Given the description of an element on the screen output the (x, y) to click on. 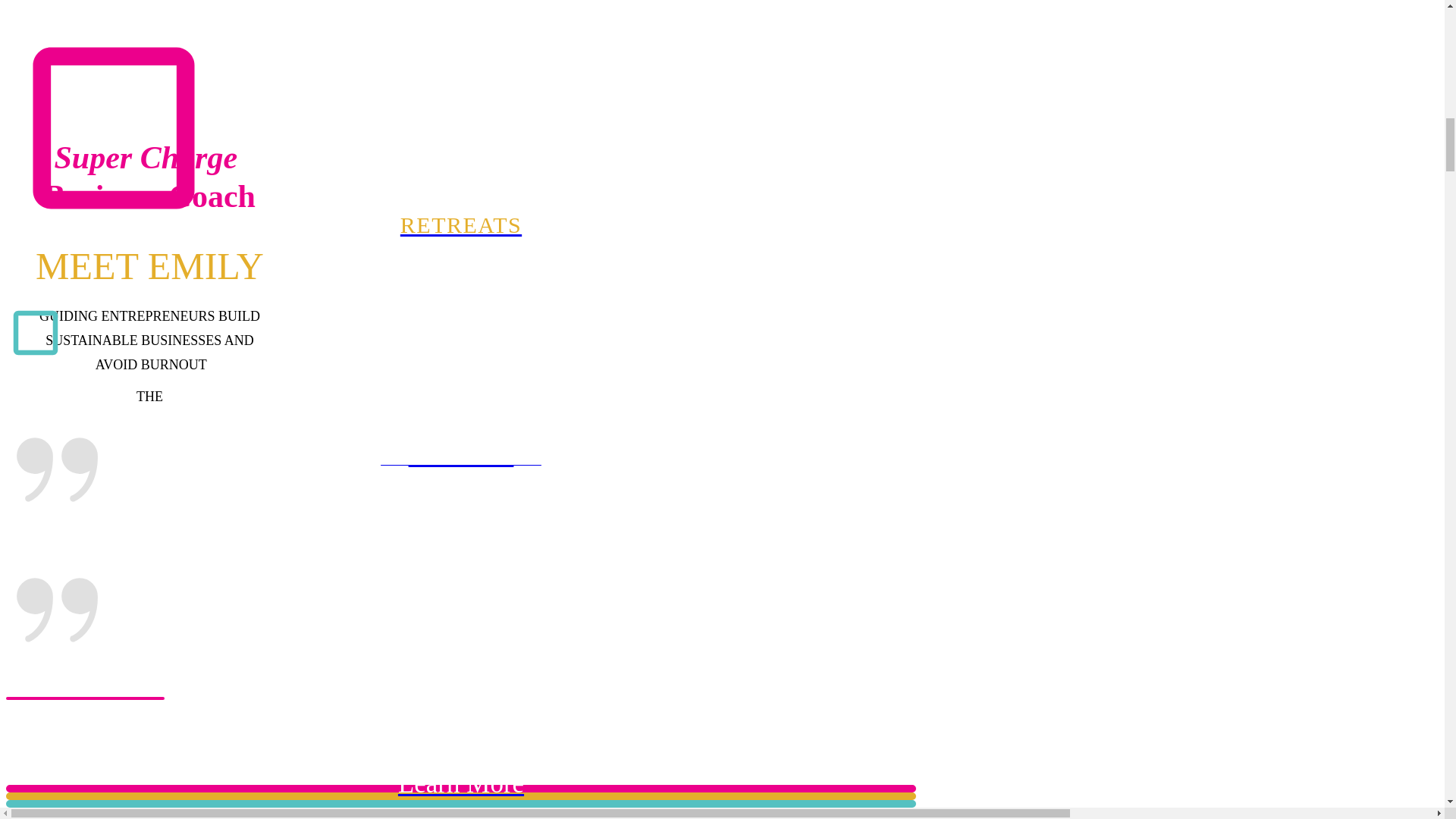
RETREATS (460, 225)
About Me (460, 454)
Learn More (460, 784)
SPEAKING (460, 812)
LET'S SUPER CHARGE! (460, 459)
